Given the description of an element on the screen output the (x, y) to click on. 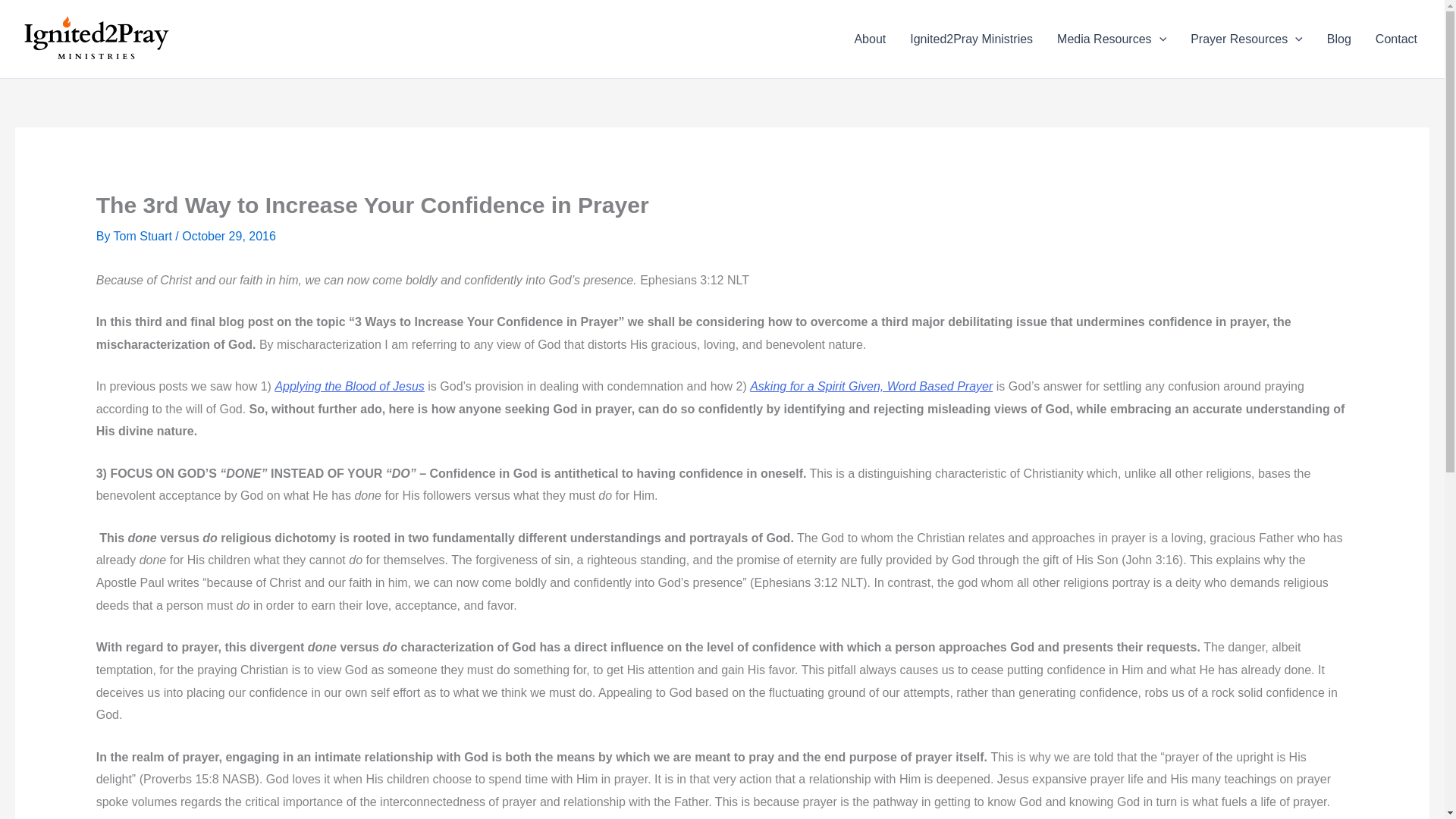
Media Resources (1111, 39)
Ignited2Pray Ministries (971, 39)
View all posts by Tom Stuart (144, 236)
Prayer Resources (1245, 39)
Contact (1395, 39)
About (869, 39)
